Given the description of an element on the screen output the (x, y) to click on. 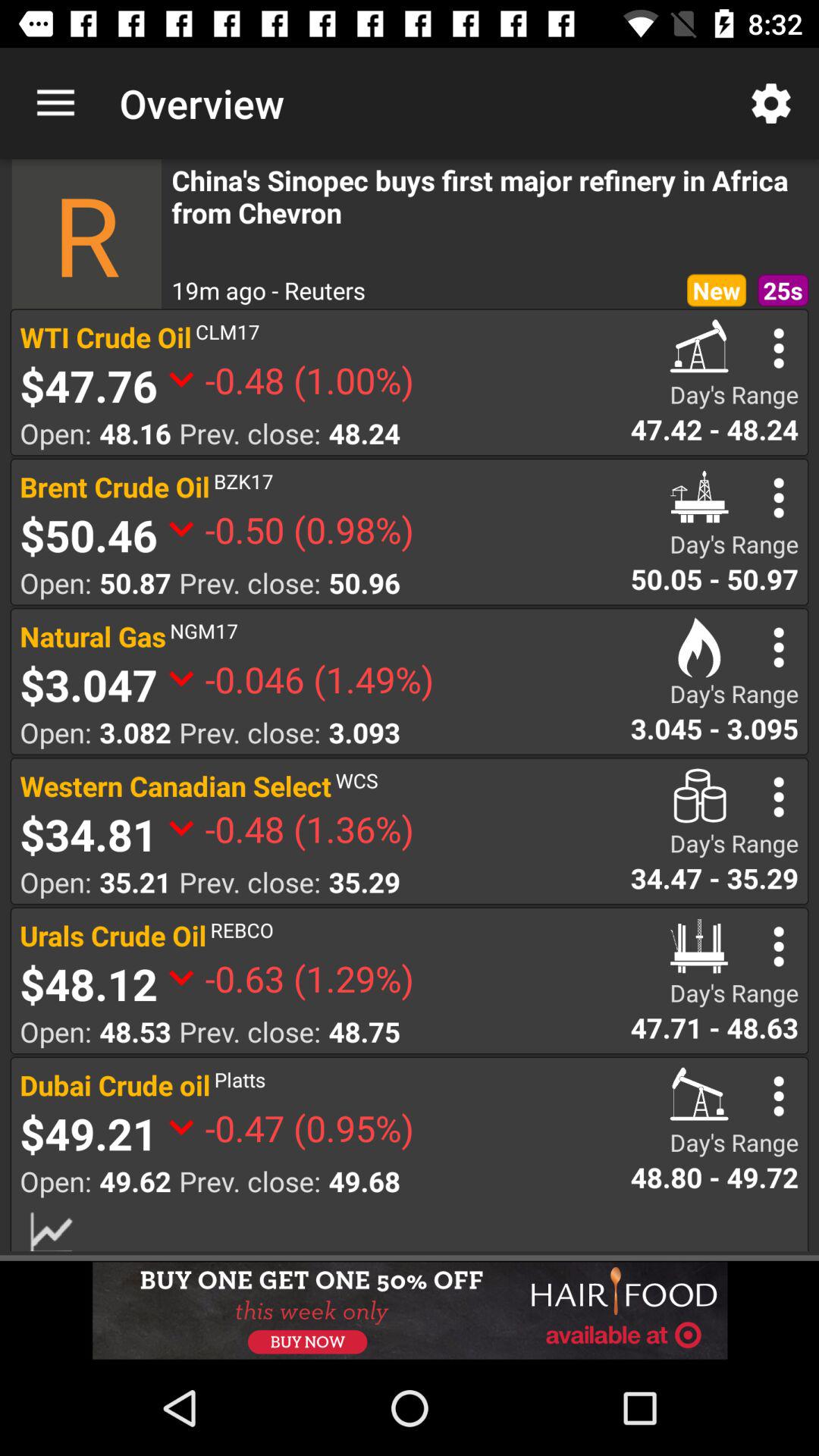
select more option (778, 497)
